Given the description of an element on the screen output the (x, y) to click on. 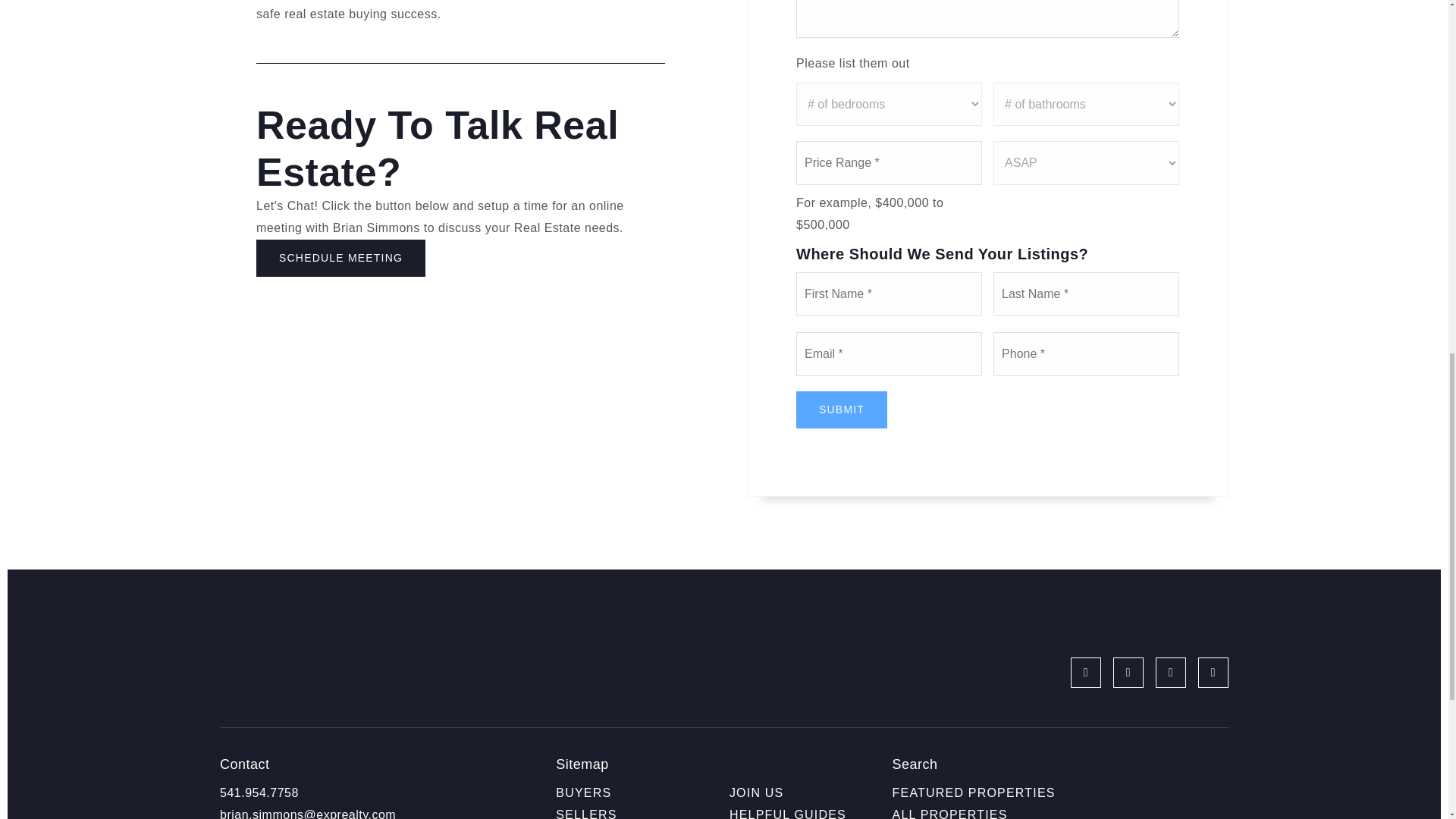
Call us (258, 792)
Email us (307, 813)
